Given the description of an element on the screen output the (x, y) to click on. 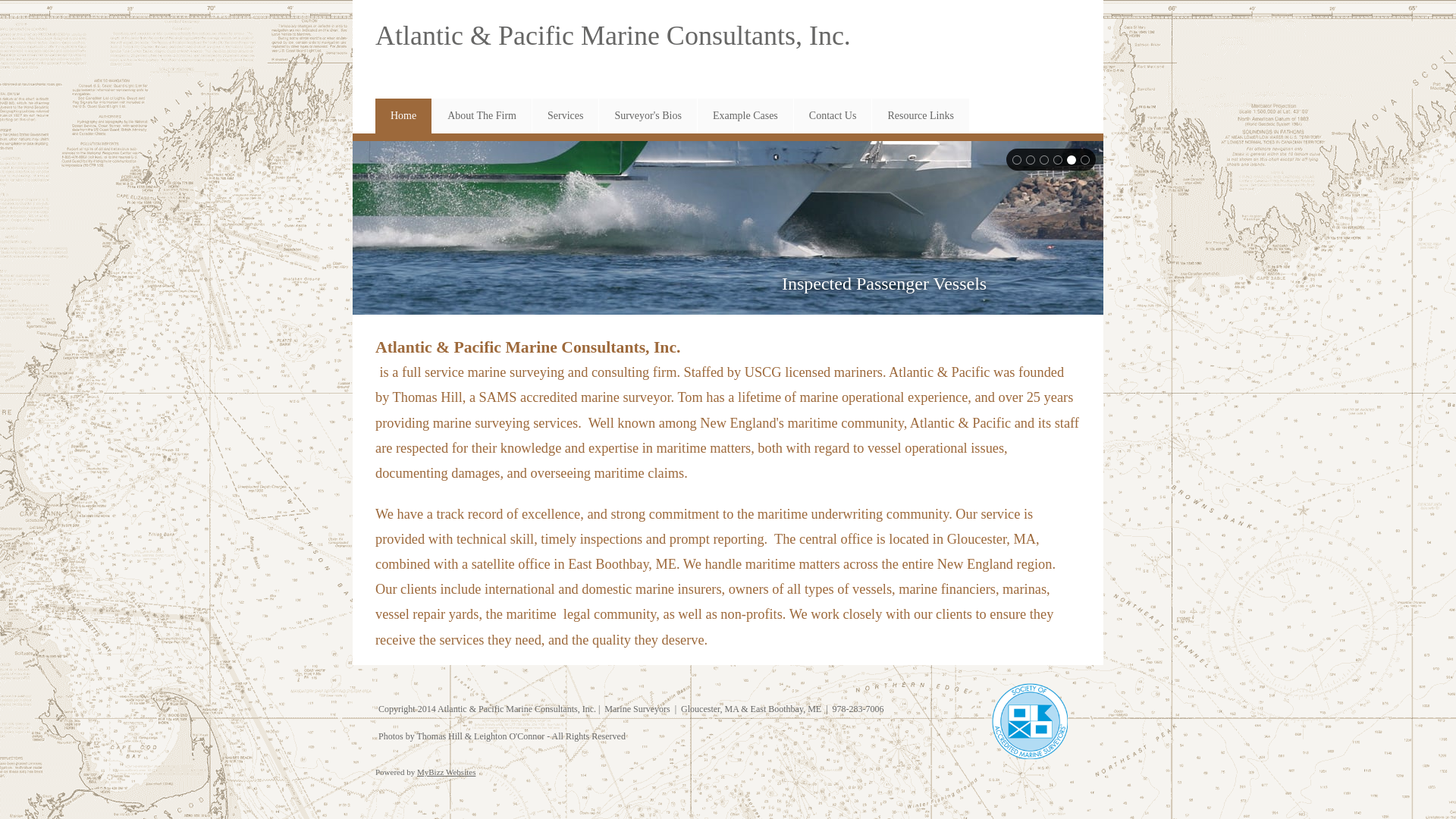
Atlantic & Pacific Marine Consultants, Inc. Element type: text (612, 35)
Home Element type: text (403, 115)
Resource Links Element type: text (920, 115)
Services Element type: text (565, 115)
About The Firm Element type: text (481, 115)
Contact Us Element type: text (832, 115)
Society of Accredited Marine Surveyors Element type: hover (1029, 721)
MyBizz Websites Element type: text (446, 771)
Surveyor's Bios Element type: text (647, 115)
Example Cases Element type: text (745, 115)
